Given the description of an element on the screen output the (x, y) to click on. 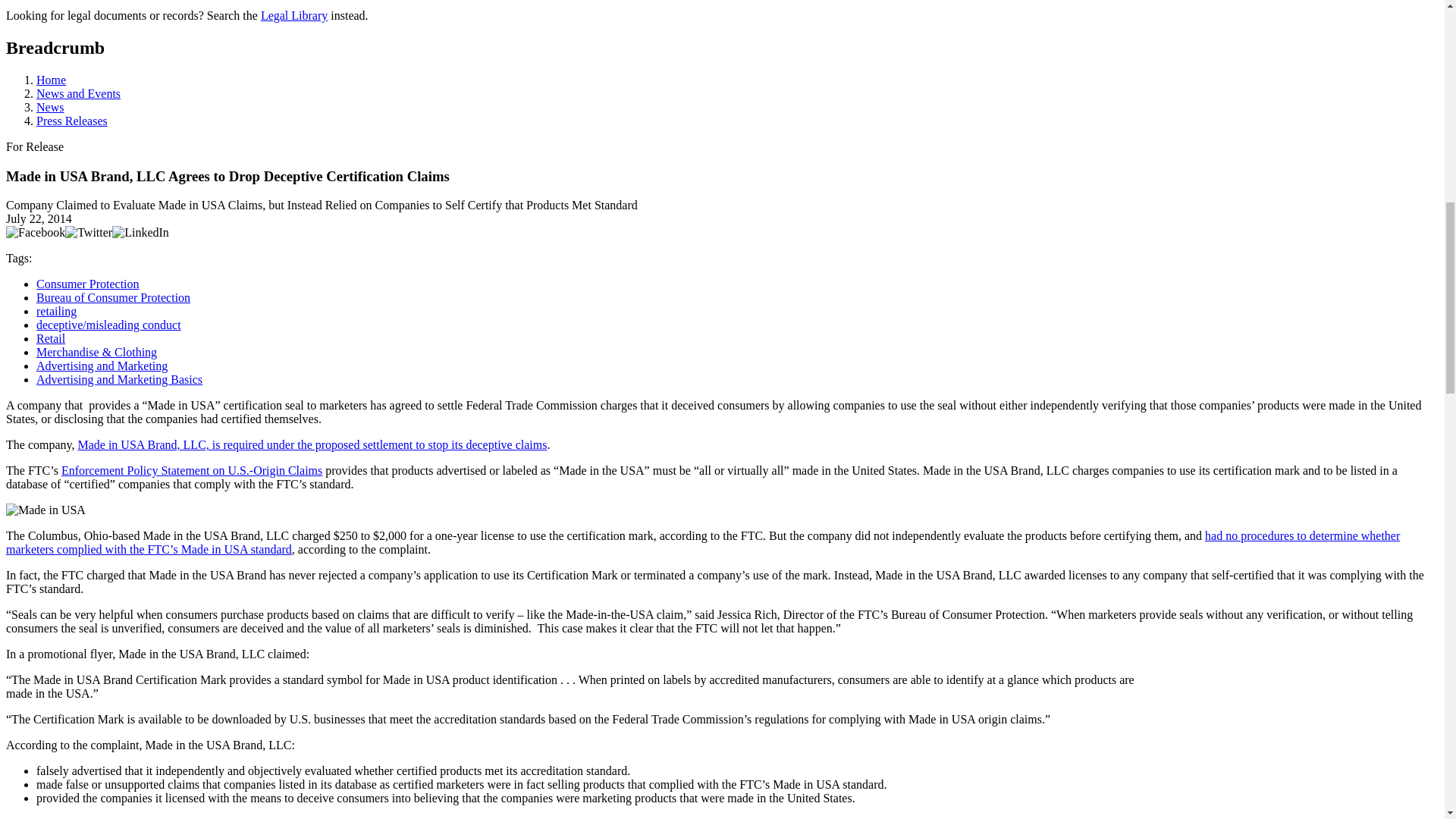
News and Events (78, 92)
Press Releases (71, 120)
Home (50, 79)
Legal Library (293, 15)
News (50, 106)
